Given the description of an element on the screen output the (x, y) to click on. 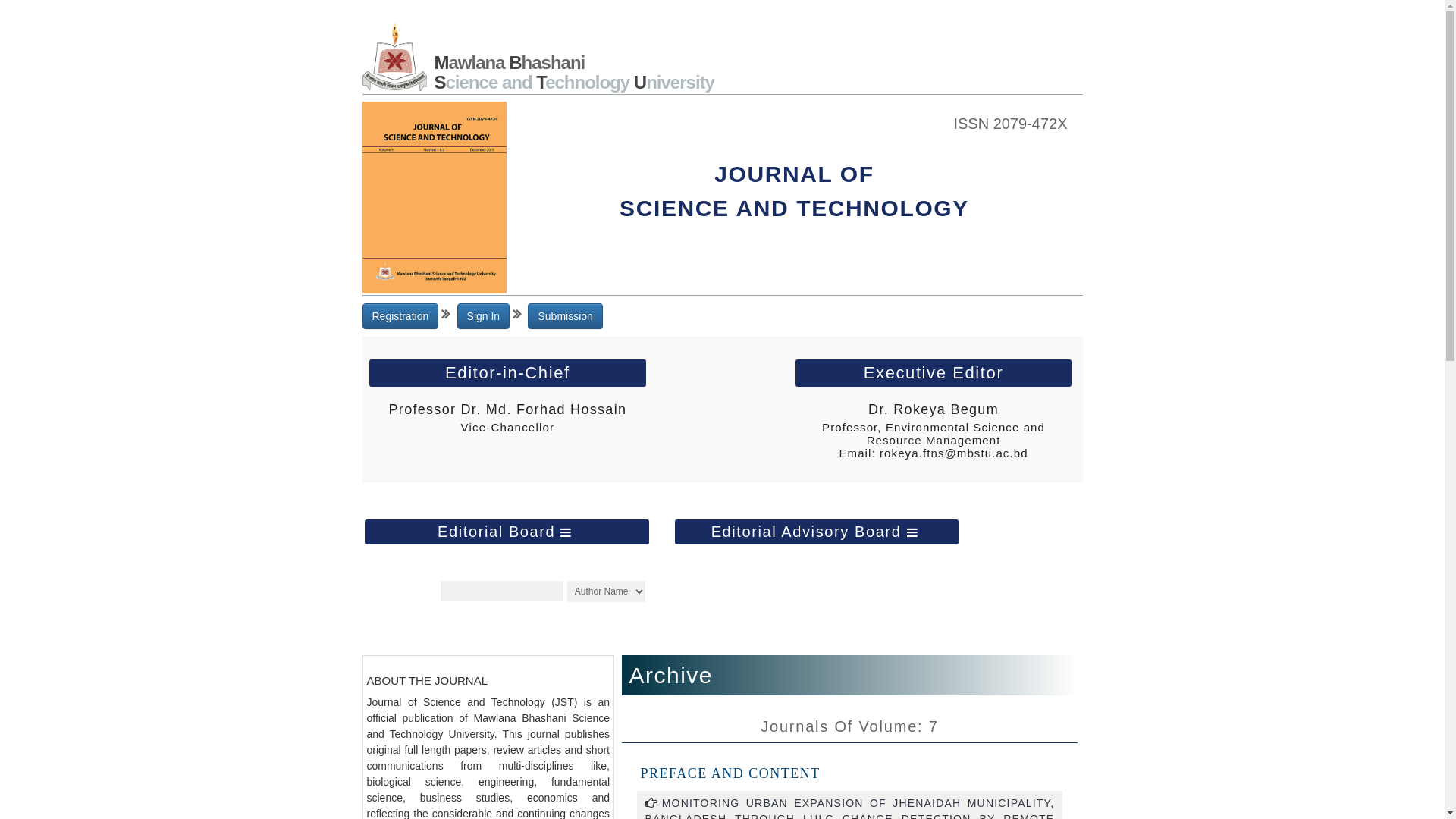
PREFACE AND CONTENT Element type: text (729, 773)
Sign In Element type: text (483, 316)
Submission Element type: text (564, 316)
Registration Element type: text (400, 316)
